Given the description of an element on the screen output the (x, y) to click on. 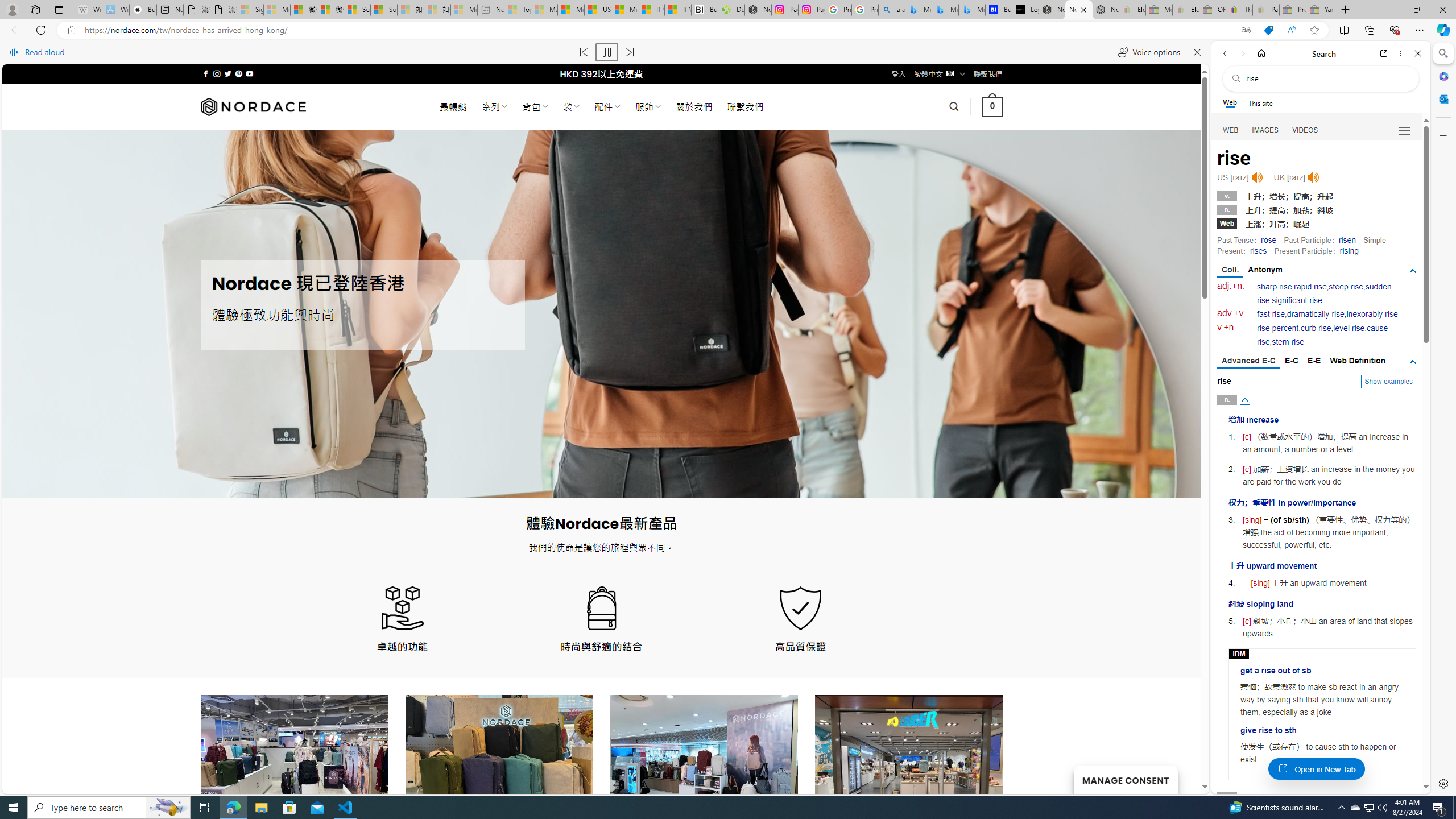
cause rise (1322, 335)
Threats and offensive language policy | eBay (1239, 9)
rose (1268, 239)
